Given the description of an element on the screen output the (x, y) to click on. 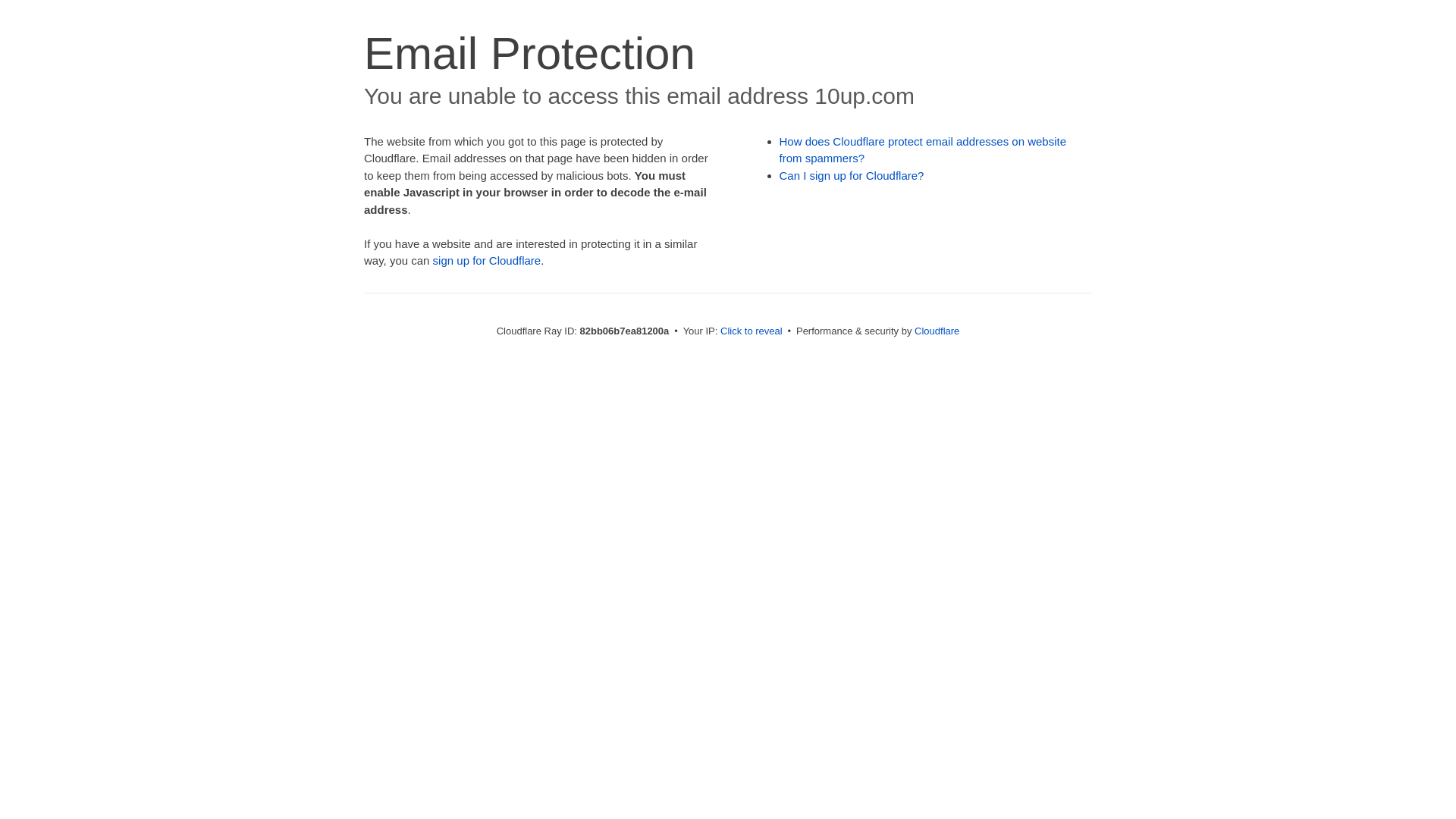
Click to reveal Element type: text (751, 330)
Can I sign up for Cloudflare? Element type: text (851, 175)
Cloudflare Element type: text (936, 330)
sign up for Cloudflare Element type: text (487, 260)
